Given the description of an element on the screen output the (x, y) to click on. 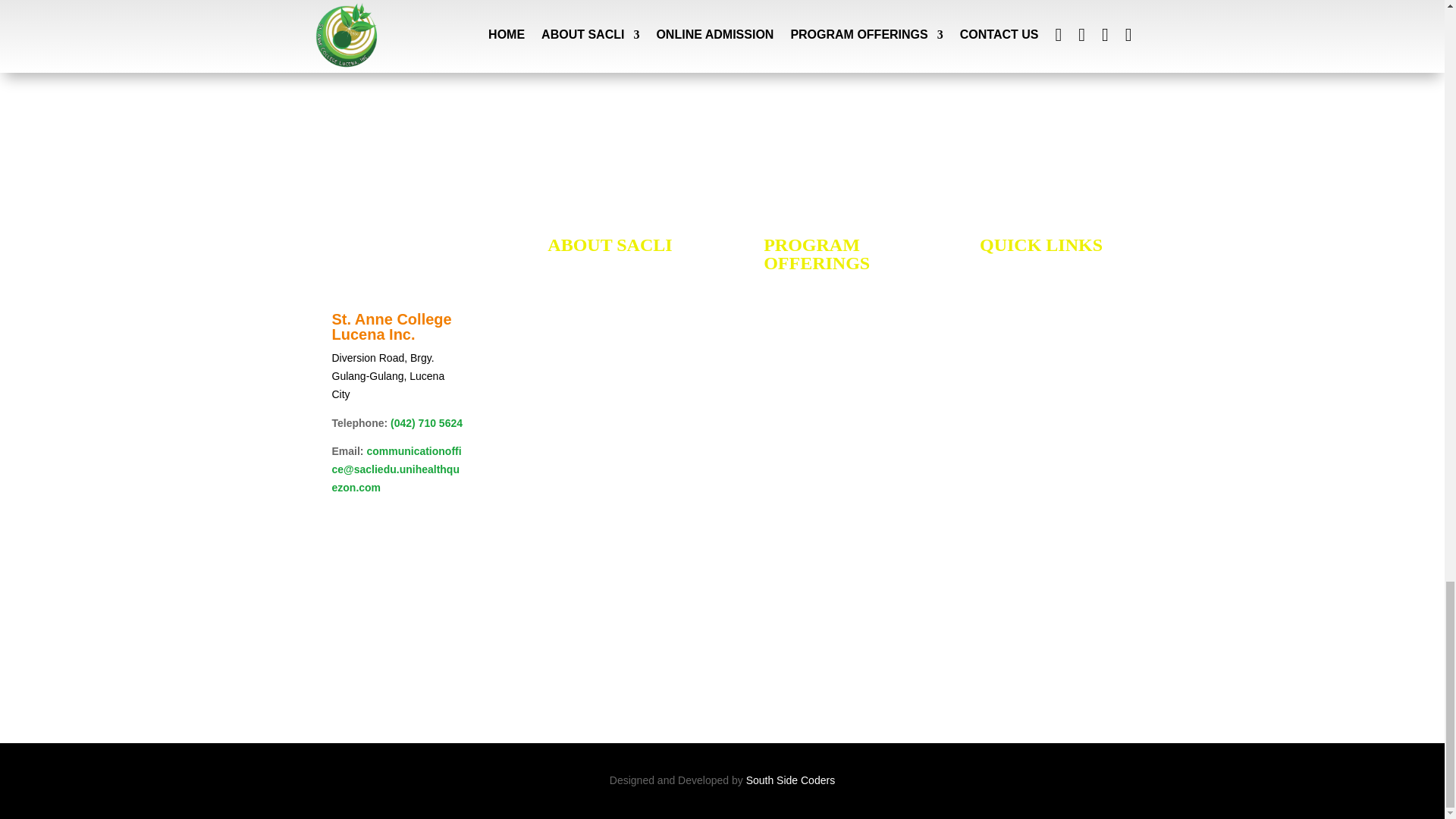
Lucena City Web Developer (790, 779)
